Given the description of an element on the screen output the (x, y) to click on. 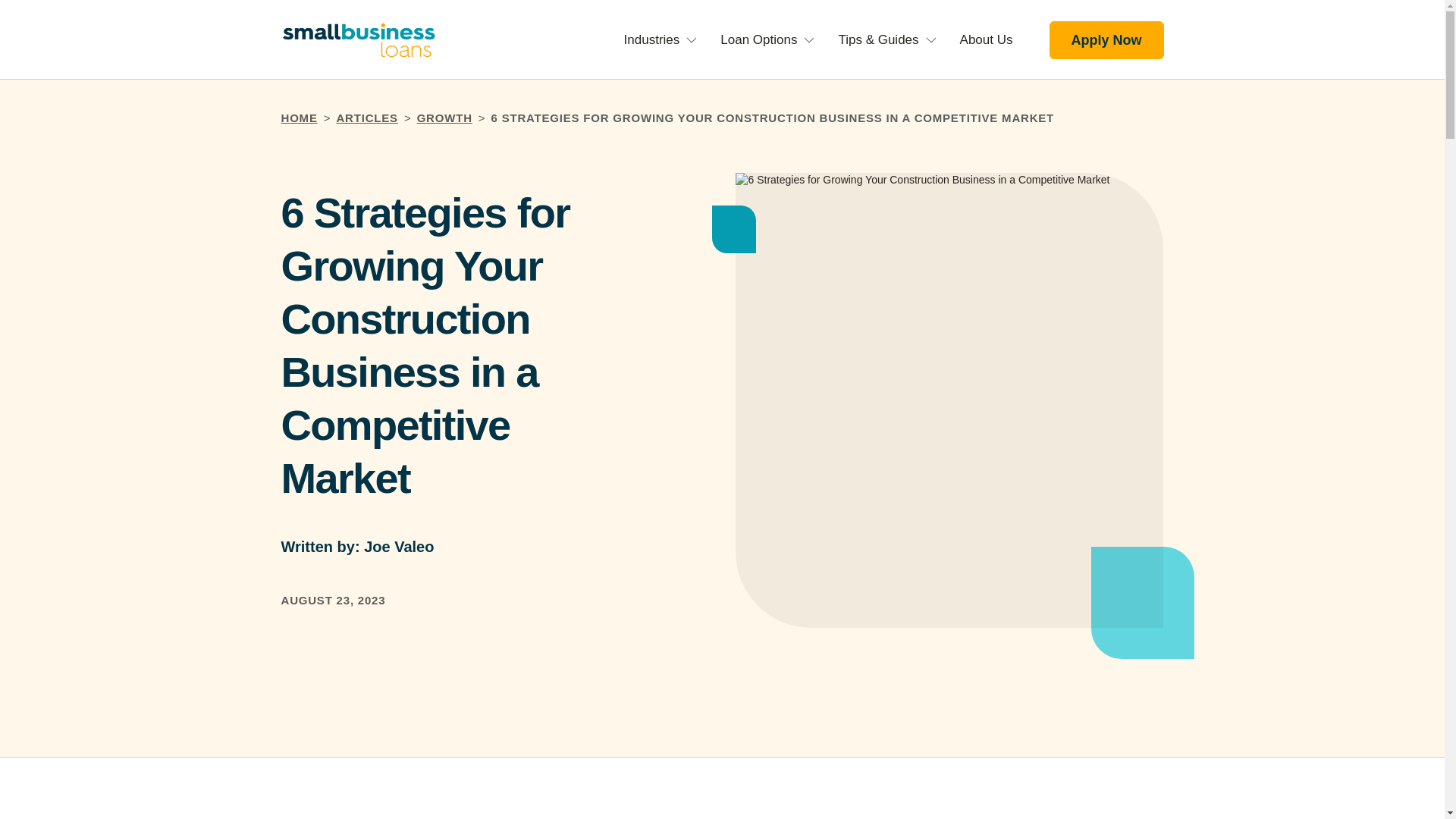
Industries (660, 39)
Apply Now (1106, 39)
Loan Options (766, 39)
ARTICLES (369, 117)
Home (358, 40)
HOME (302, 117)
GROWTH (447, 117)
About Us (986, 39)
